Given the description of an element on the screen output the (x, y) to click on. 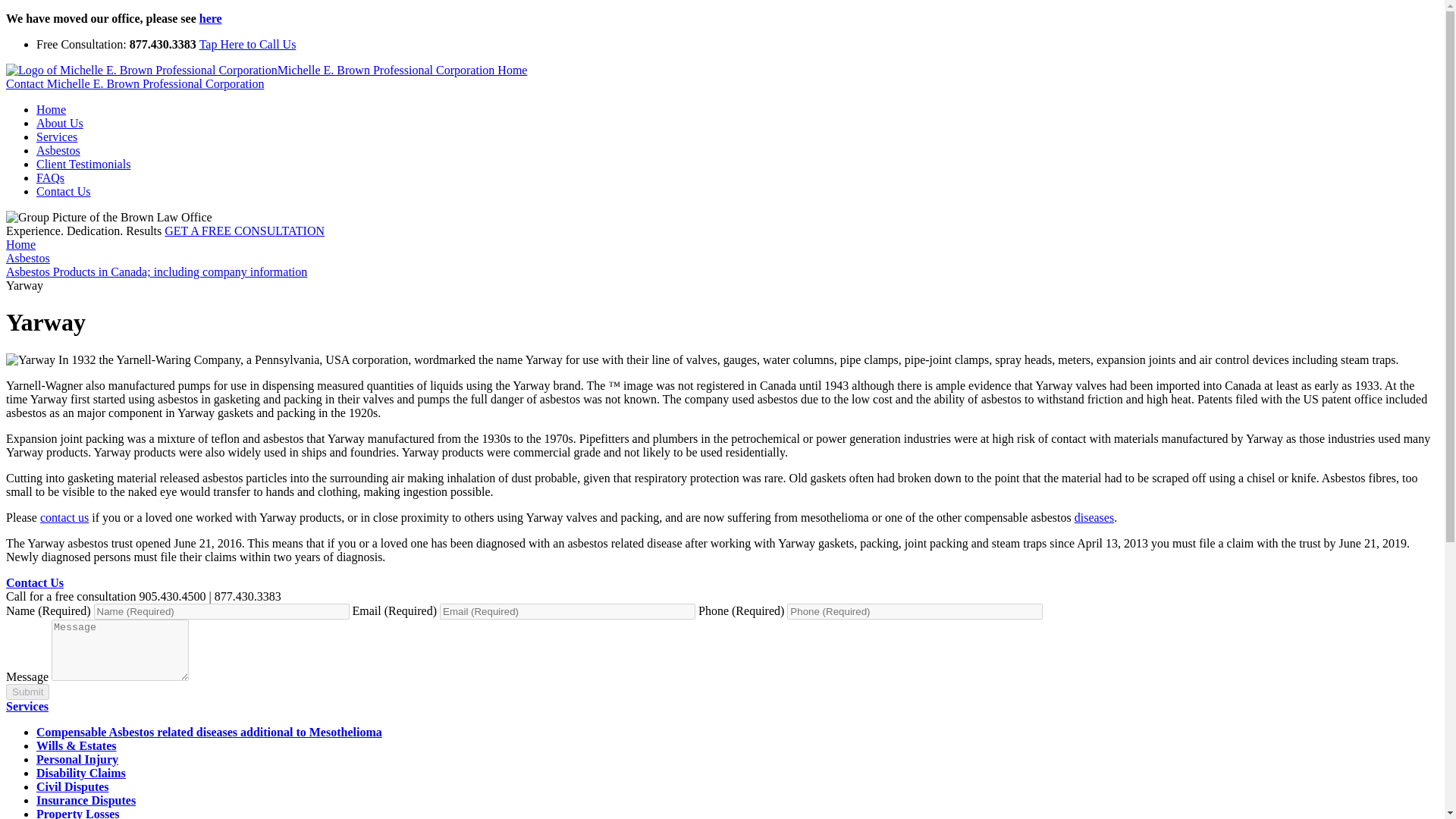
Insurance Disputes (85, 799)
Personal Injury (76, 758)
Asbestos Products in Canada; including company information (156, 271)
Property Losses (77, 813)
Home (50, 109)
Submit (27, 691)
here (210, 18)
Contact Michelle E. Brown Professional Corporation (134, 83)
diseases (1093, 517)
contact us (64, 517)
Contact Us (34, 582)
Back to Home (266, 69)
FAQs (50, 177)
Civil Disputes (72, 786)
